Given the description of an element on the screen output the (x, y) to click on. 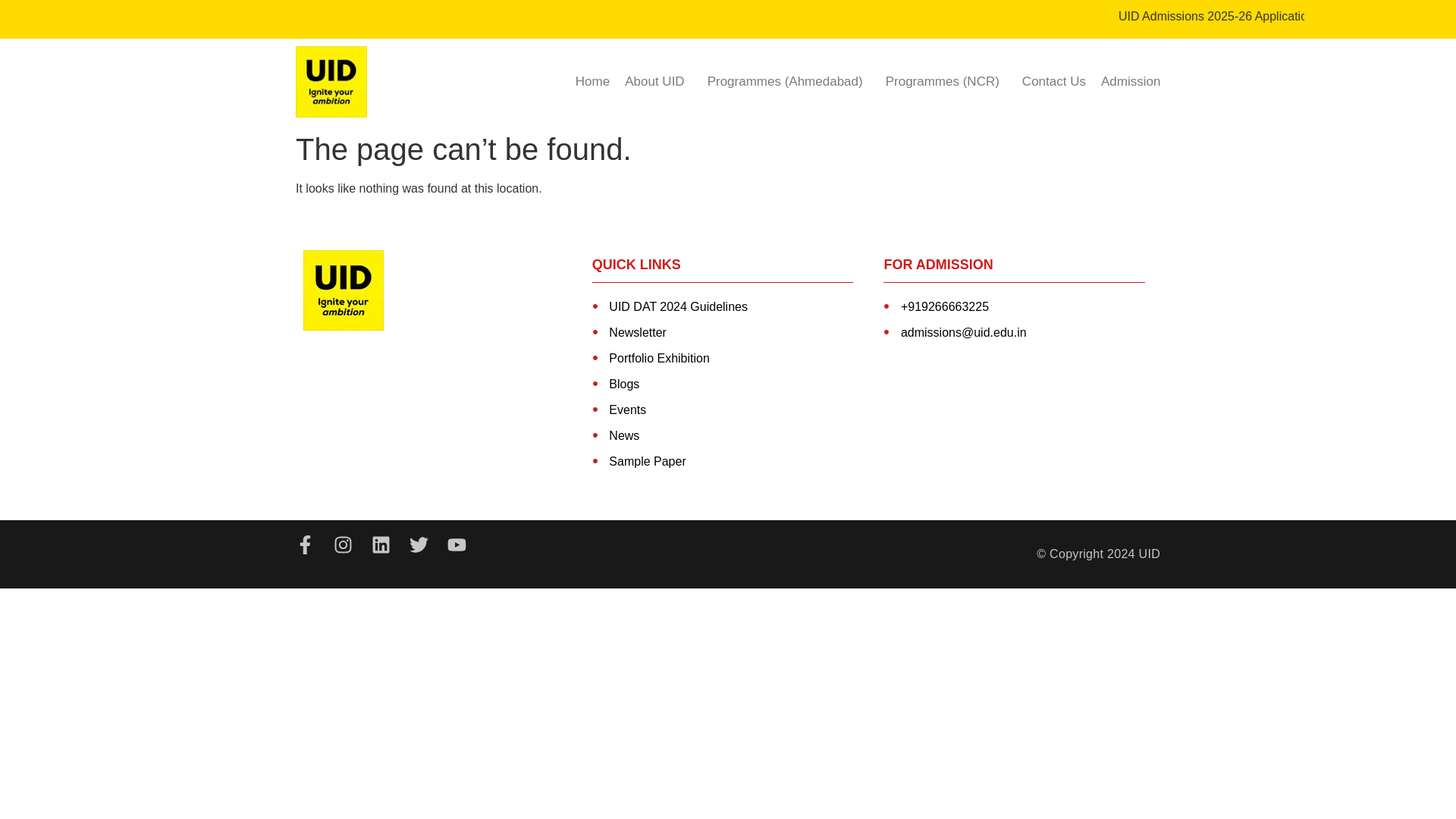
About UID (657, 81)
Admission (1130, 81)
Contact Us (1053, 81)
Home (592, 81)
